Given the description of an element on the screen output the (x, y) to click on. 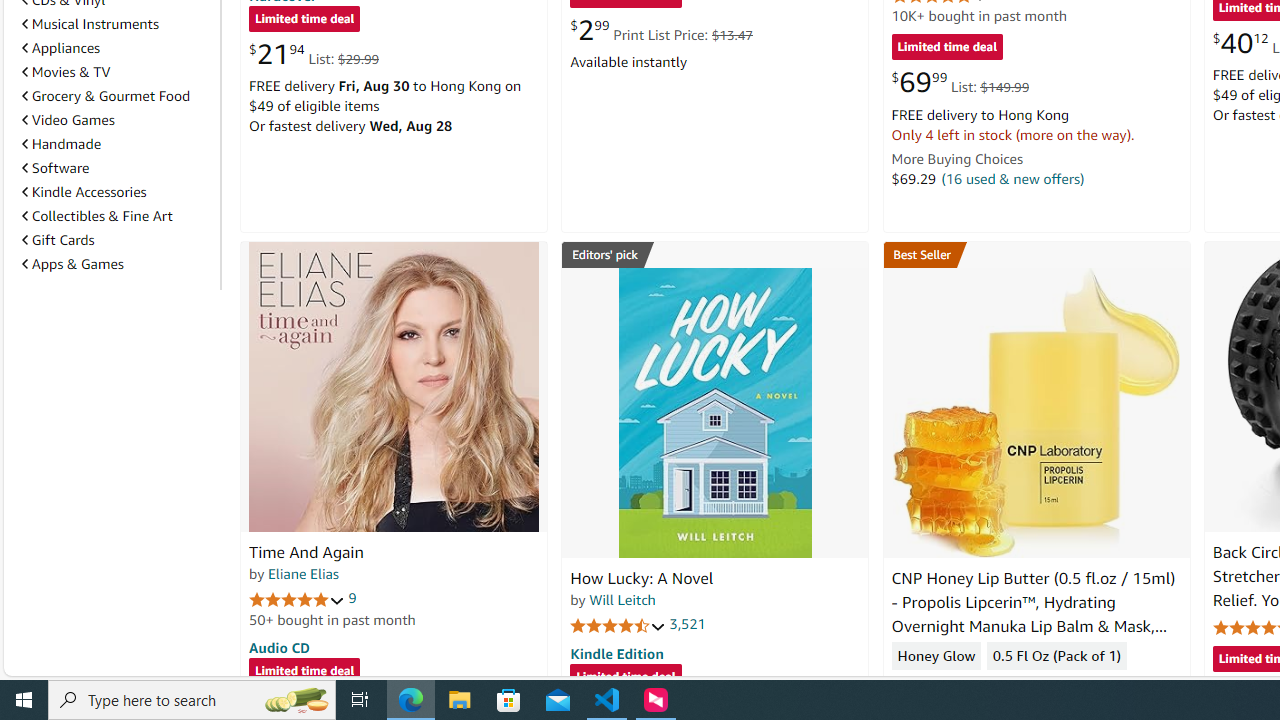
Collectibles & Fine Art (117, 215)
Software (55, 168)
(16 used & new offers) (1012, 178)
How Lucky: A Novel (714, 412)
Grocery & Gourmet Food (105, 96)
Video Games (117, 120)
Grocery & Gourmet Food (117, 95)
3,521 (687, 624)
Time And Again (393, 386)
Apps & Games (72, 263)
Movies & TV (117, 71)
Will Leitch (621, 599)
How Lucky: A Novel (641, 578)
Musical Instruments (89, 24)
